Given the description of an element on the screen output the (x, y) to click on. 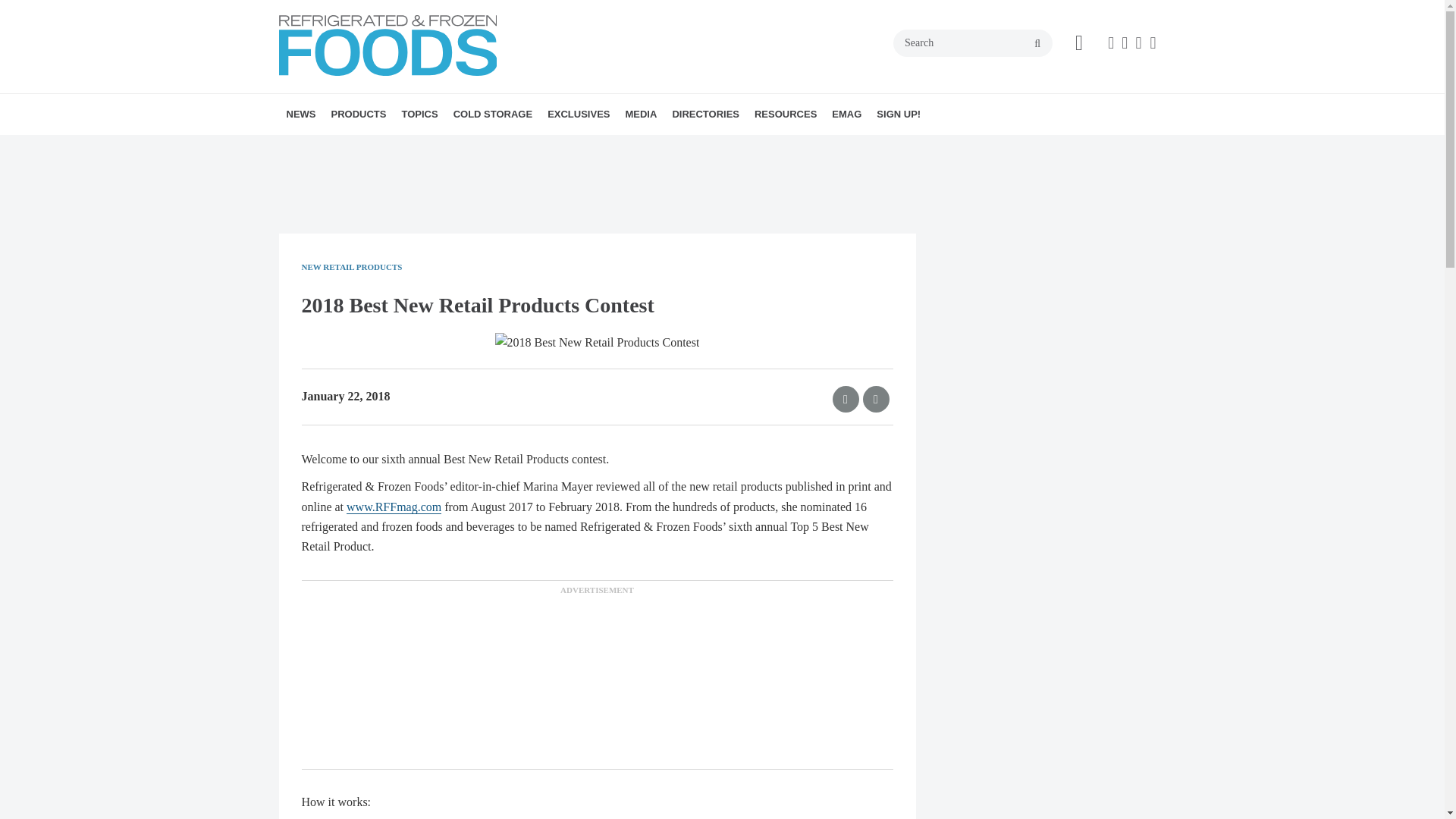
FEATURED PRODUCTS (424, 147)
facebook (1110, 43)
STATE OF THE INDUSTRY (663, 147)
PRODUCTS (358, 114)
ENERGY MANAGEMENT (496, 147)
NEWS (301, 114)
PROCESSOR OF THE YEAR (634, 147)
MEDIA (640, 114)
COLD STORAGE (492, 114)
youtube (1153, 43)
EDITOR'S BLOG (666, 147)
TOP 150 FROZEN FOOD PROCESSORS (651, 156)
TECHNOLOGY SHOWCASE (391, 147)
PACKAGING (507, 147)
EXCLUSIVES (578, 114)
